Given the description of an element on the screen output the (x, y) to click on. 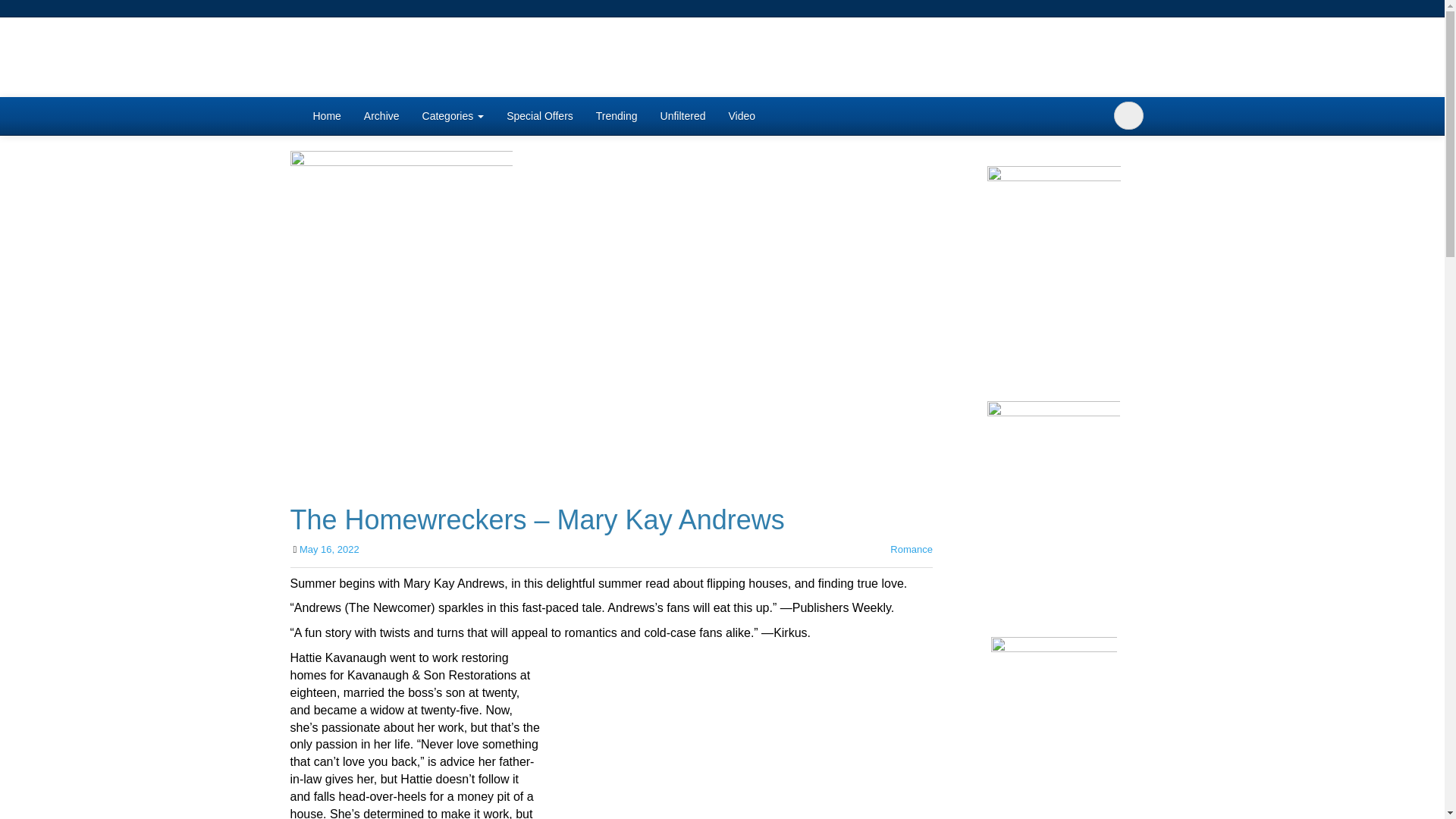
Trending (617, 116)
Categories (453, 116)
12:05 am (329, 549)
Romance (911, 549)
Video (741, 116)
Home (326, 116)
Archive (381, 116)
May 16, 2022 (329, 549)
Unfiltered (683, 116)
Special Offers (540, 116)
